Given the description of an element on the screen output the (x, y) to click on. 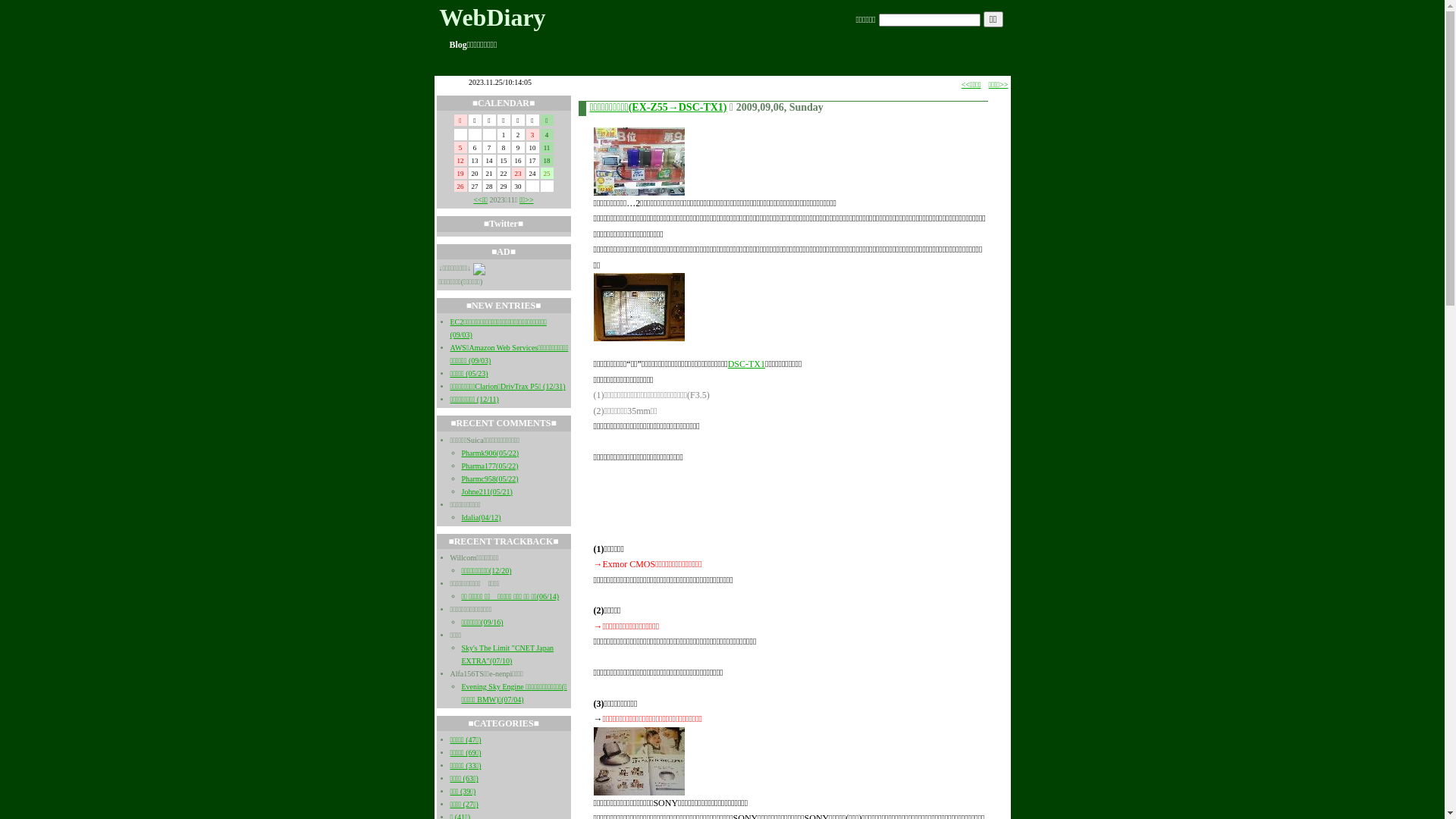
Pharmc958(05/22) Element type: text (489, 478)
Pharmk906(05/22) Element type: text (489, 452)
DSC-TX1 Element type: text (746, 363)
Idalia(04/12) Element type: text (480, 517)
WebDiary Element type: text (492, 17)
Johne211(05/21) Element type: text (486, 491)
Pharma177(05/22) Element type: text (489, 465)
Advertisement Element type: hover (770, 502)
Sky's The Limit "CNET Japan EXTRA"(07/10) Element type: text (507, 654)
